Given the description of an element on the screen output the (x, y) to click on. 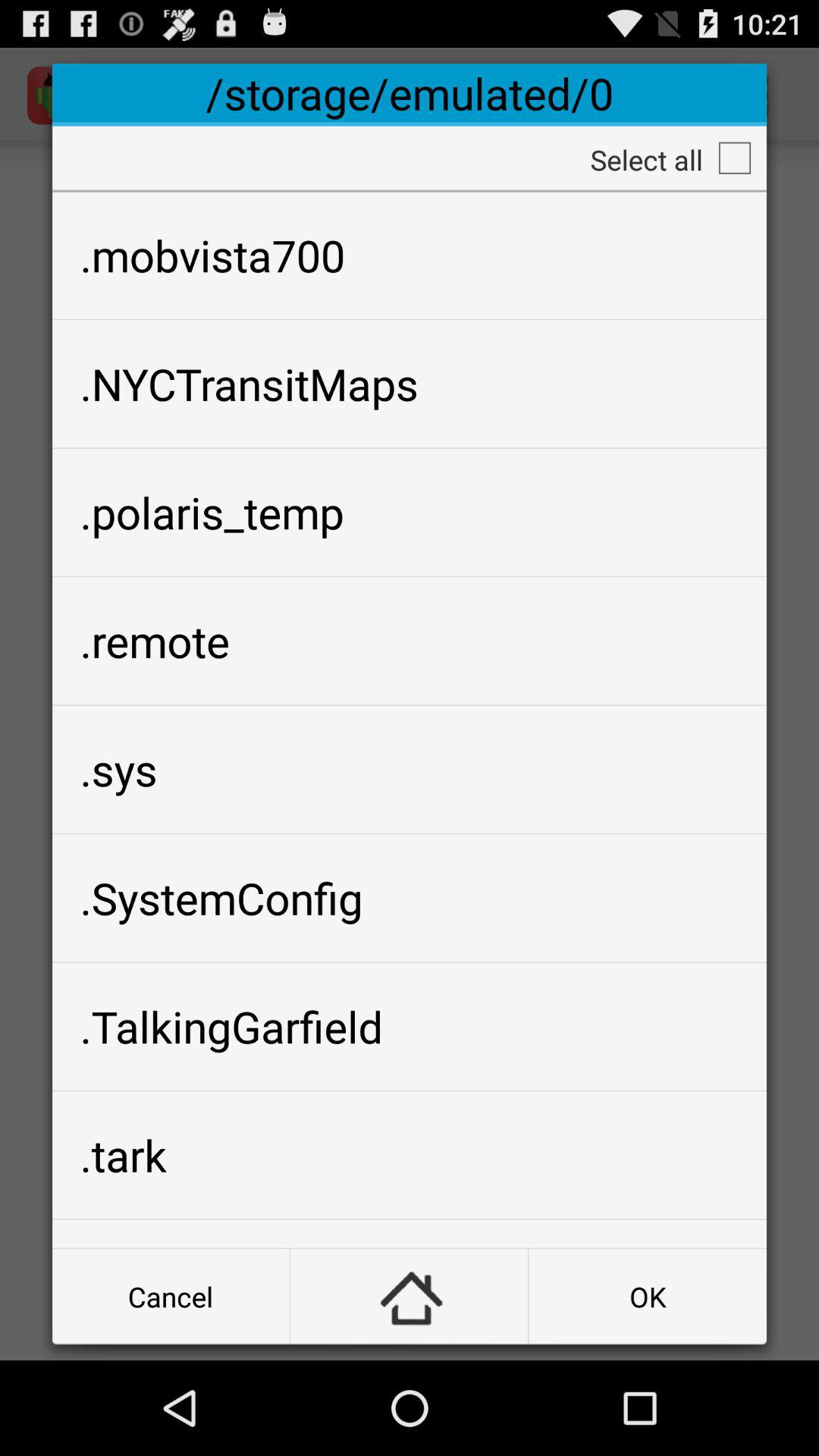
select icon below .nyctransitmaps app (409, 512)
